Given the description of an element on the screen output the (x, y) to click on. 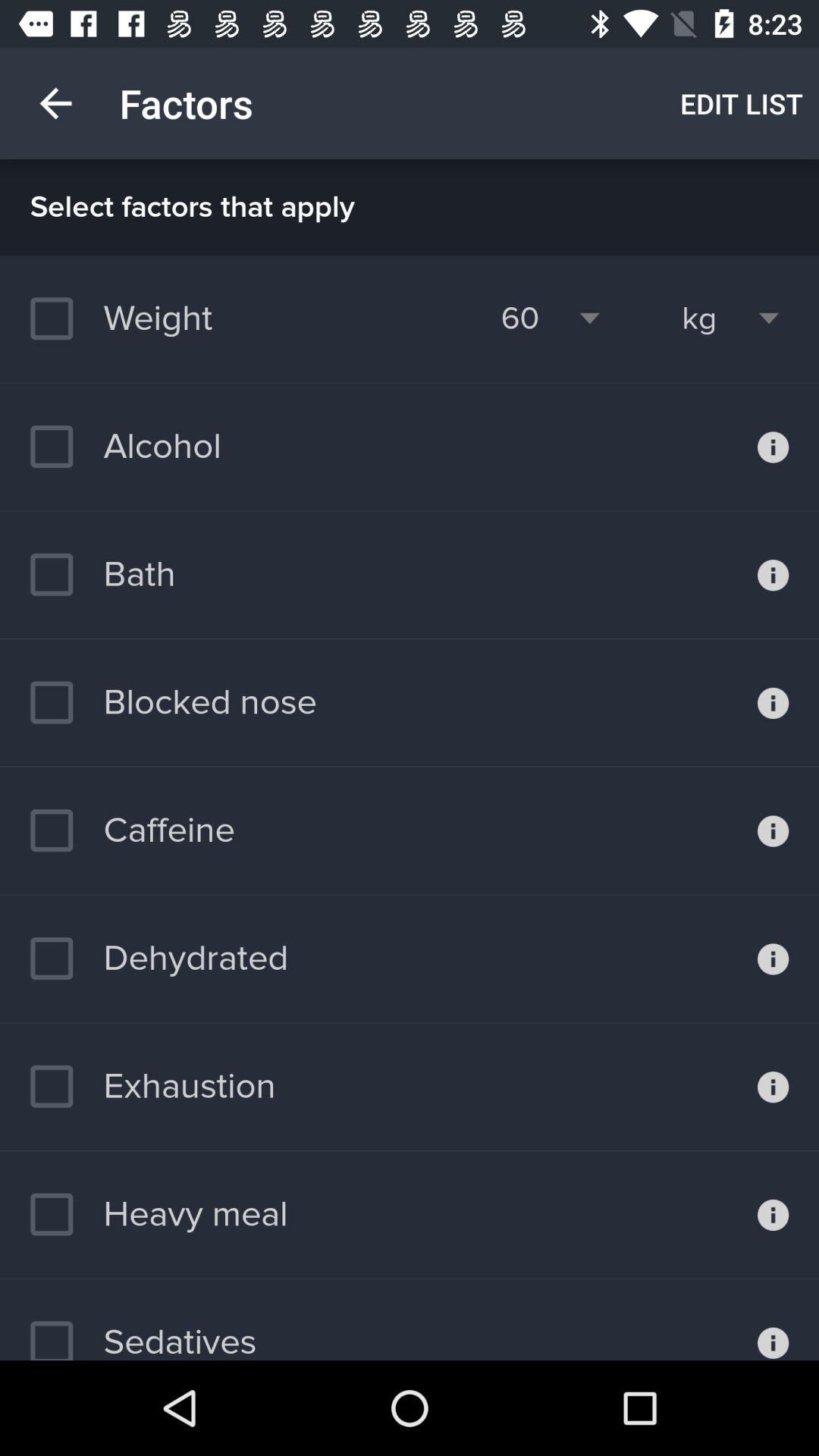
press icon to the right of the weight (519, 318)
